Given the description of an element on the screen output the (x, y) to click on. 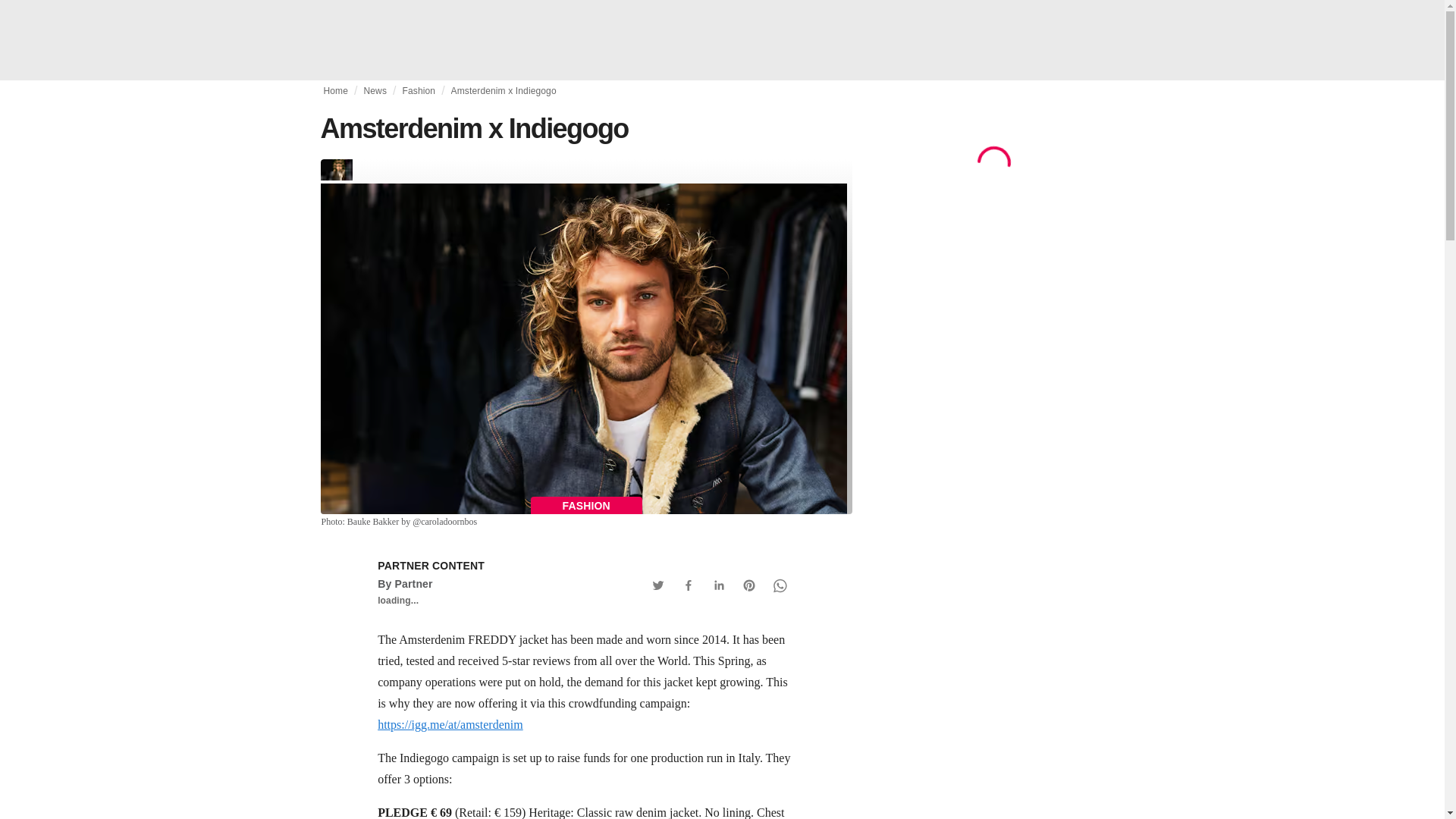
Home (335, 90)
By Partner (404, 583)
Amsterdenim x Indiegogo (503, 90)
News (375, 90)
Fashion (418, 90)
